Given the description of an element on the screen output the (x, y) to click on. 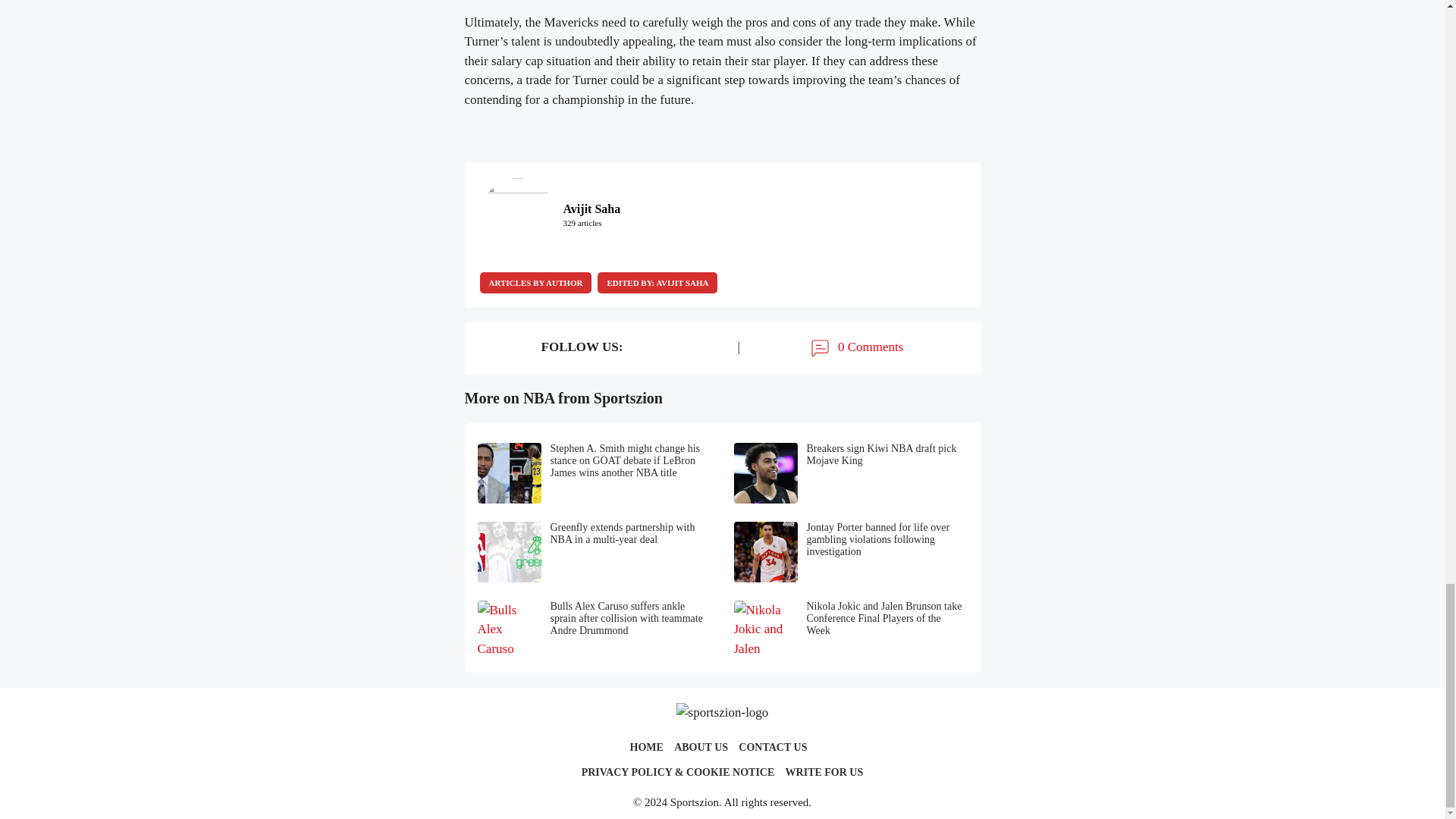
ARTICLES BY AUTHOR (535, 282)
EDITED BY: AVIJIT SAHA (656, 282)
Greenfly extends partnership with NBA in a multi-year deal (594, 551)
0 Comments (855, 347)
Breakers sign Kiwi NBA draft pick Mojave King (850, 473)
